Given the description of an element on the screen output the (x, y) to click on. 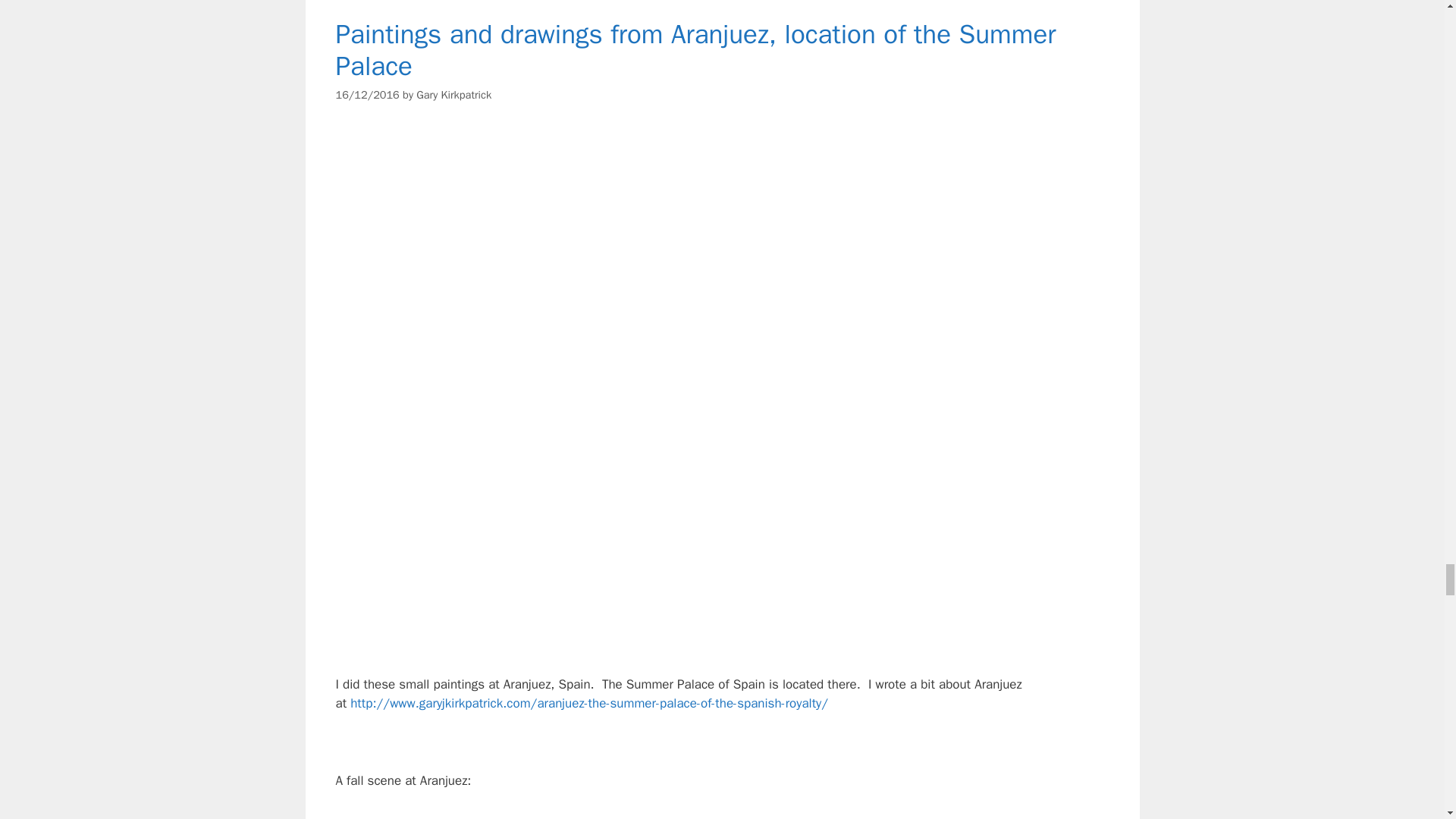
View all posts by Gary Kirkpatrick (454, 94)
